Given the description of an element on the screen output the (x, y) to click on. 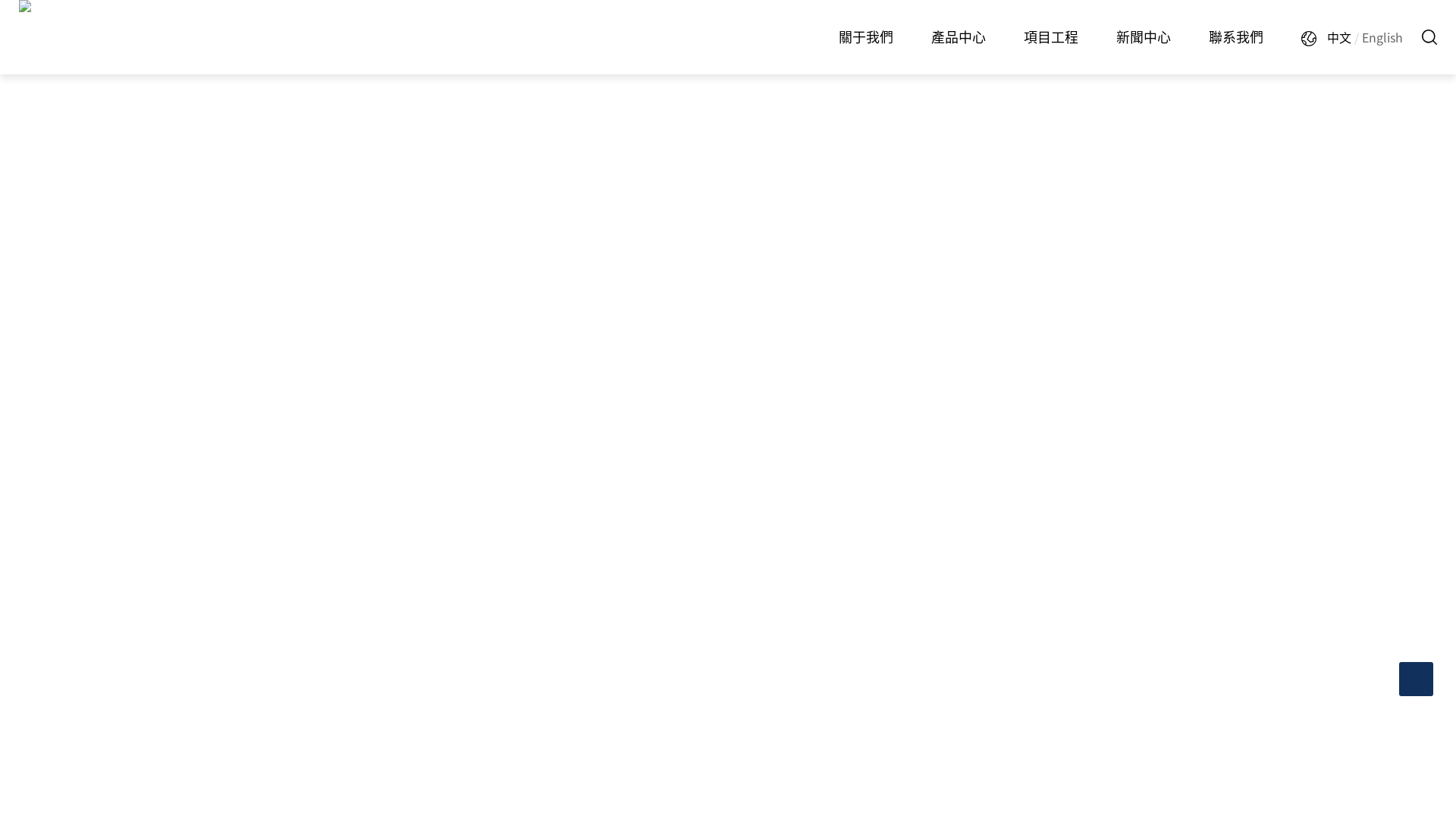
English Element type: text (1381, 37)
